Given the description of an element on the screen output the (x, y) to click on. 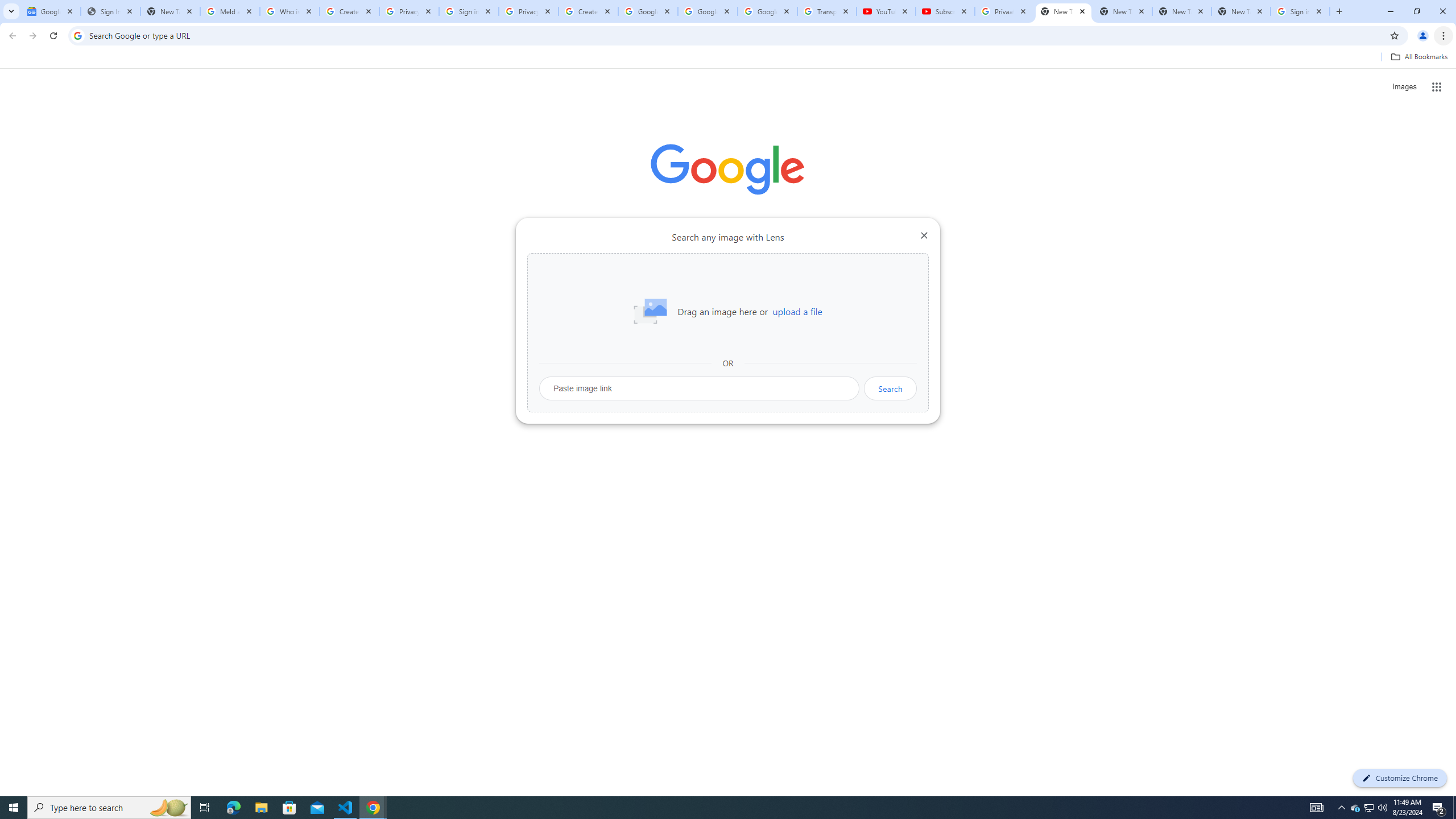
Subscriptions - YouTube (944, 11)
Sign in - Google Accounts (1300, 11)
More actions for Sign in shortcut (814, 265)
Who is my administrator? - Google Account Help (289, 11)
Create your Google Account (349, 11)
upload a file (796, 311)
Sign in - Google Accounts (468, 11)
